Given the description of an element on the screen output the (x, y) to click on. 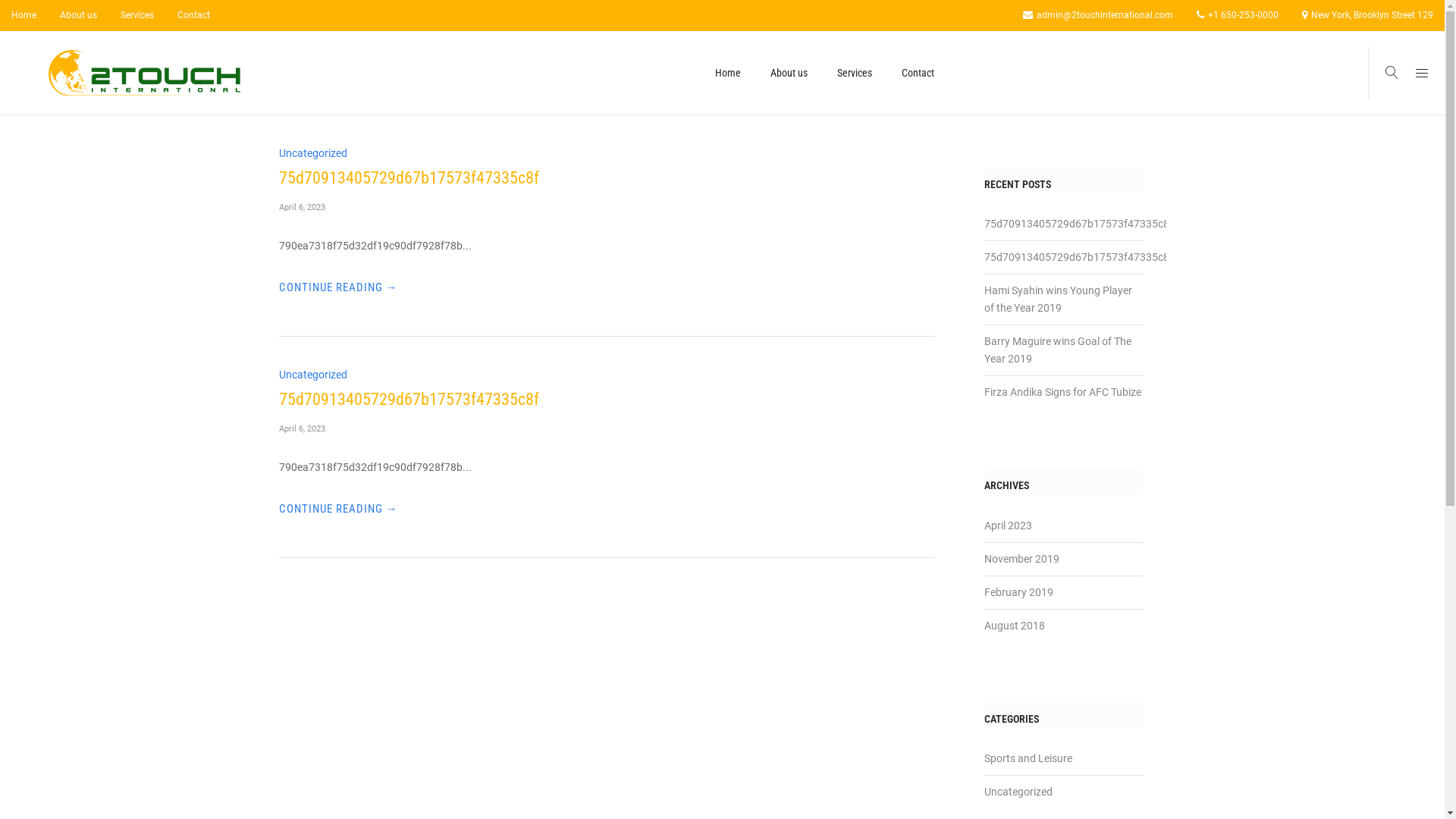
admin@2touchinternational.com Element type: text (1097, 14)
Contact Element type: text (917, 72)
2Touch International Element type: hover (143, 72)
Uncategorized Element type: text (1018, 791)
Home Element type: text (726, 72)
February 2019 Element type: text (1018, 592)
Contact Element type: text (188, 15)
Sports and Leisure Element type: text (1028, 758)
Hami Syahin wins Young Player of the Year 2019 Element type: text (1058, 298)
75d70913405729d67b17573f47335c8f Element type: text (409, 177)
About us Element type: text (788, 72)
Uncategorized Element type: text (313, 374)
Home Element type: text (29, 15)
75d70913405729d67b17573f47335c8f Element type: text (409, 398)
About us Element type: text (78, 15)
Barry Maguire wins Goal of The Year 2019 Element type: text (1057, 349)
Uncategorized Element type: text (313, 153)
75d70913405729d67b17573f47335c8f Element type: text (1078, 223)
August 2018 Element type: text (1014, 625)
Services Element type: text (137, 15)
75d70913405729d67b17573f47335c8f Element type: text (1078, 257)
Services Element type: text (854, 72)
November 2019 Element type: text (1021, 558)
Firza Andika Signs for AFC Tubize Element type: text (1062, 391)
April 2023 Element type: text (1008, 525)
